Given the description of an element on the screen output the (x, y) to click on. 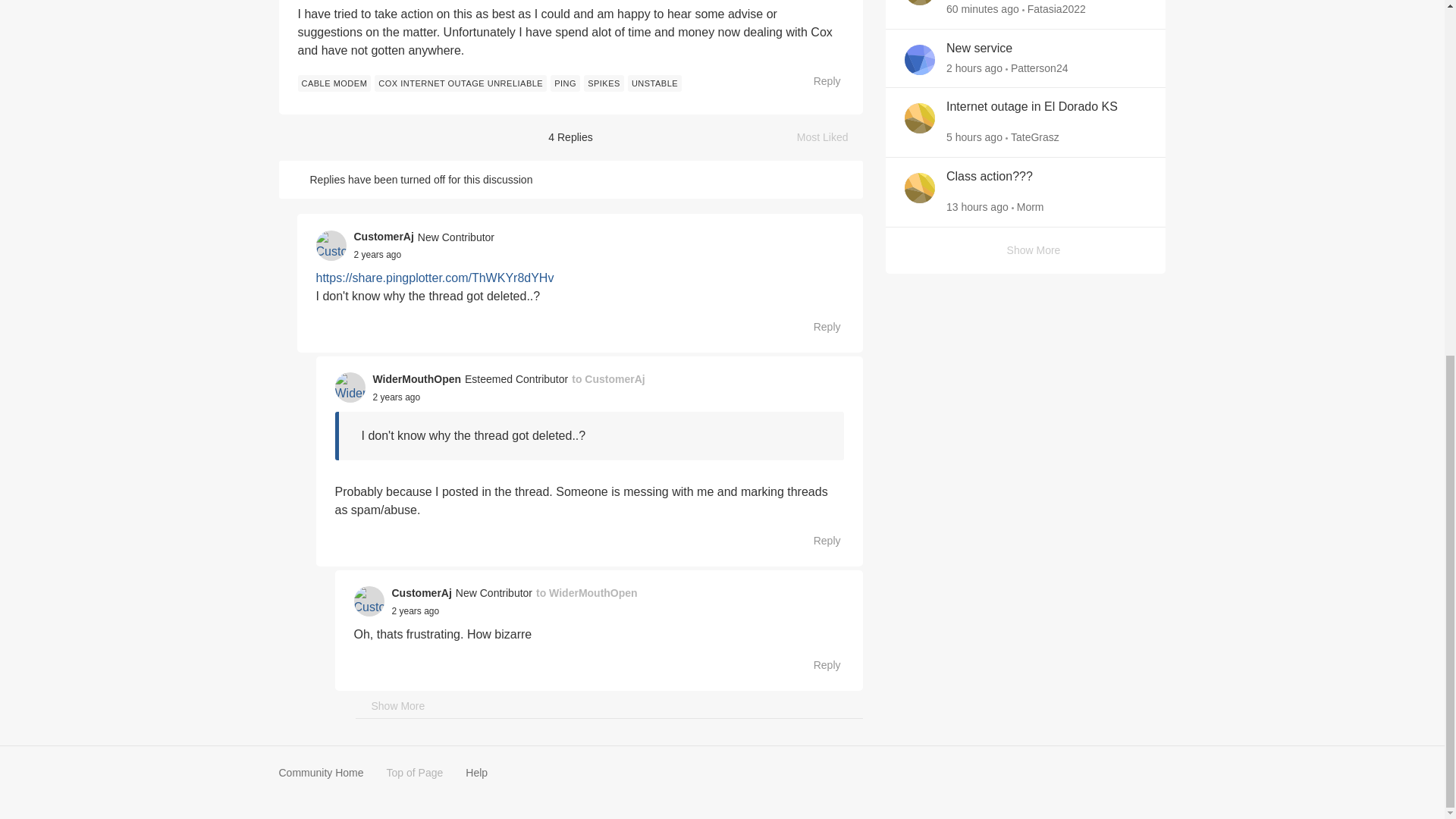
COX INTERNET OUTAGE UNRELIABLE (460, 83)
WiderMouthOpen (416, 379)
New service (978, 48)
September 26, 2022 at 9:10 PM (377, 254)
2 years ago (396, 397)
September 26, 2022 at 9:15 PM (396, 397)
2 years ago (377, 254)
September 26, 2022 at 9:38 PM (415, 611)
to CustomerAj (608, 379)
Reply (819, 540)
July 17, 2024 at 5:54 PM (982, 9)
SPIKES (603, 83)
PING (564, 83)
Reply (819, 326)
CABLE MODEM (334, 83)
